Given the description of an element on the screen output the (x, y) to click on. 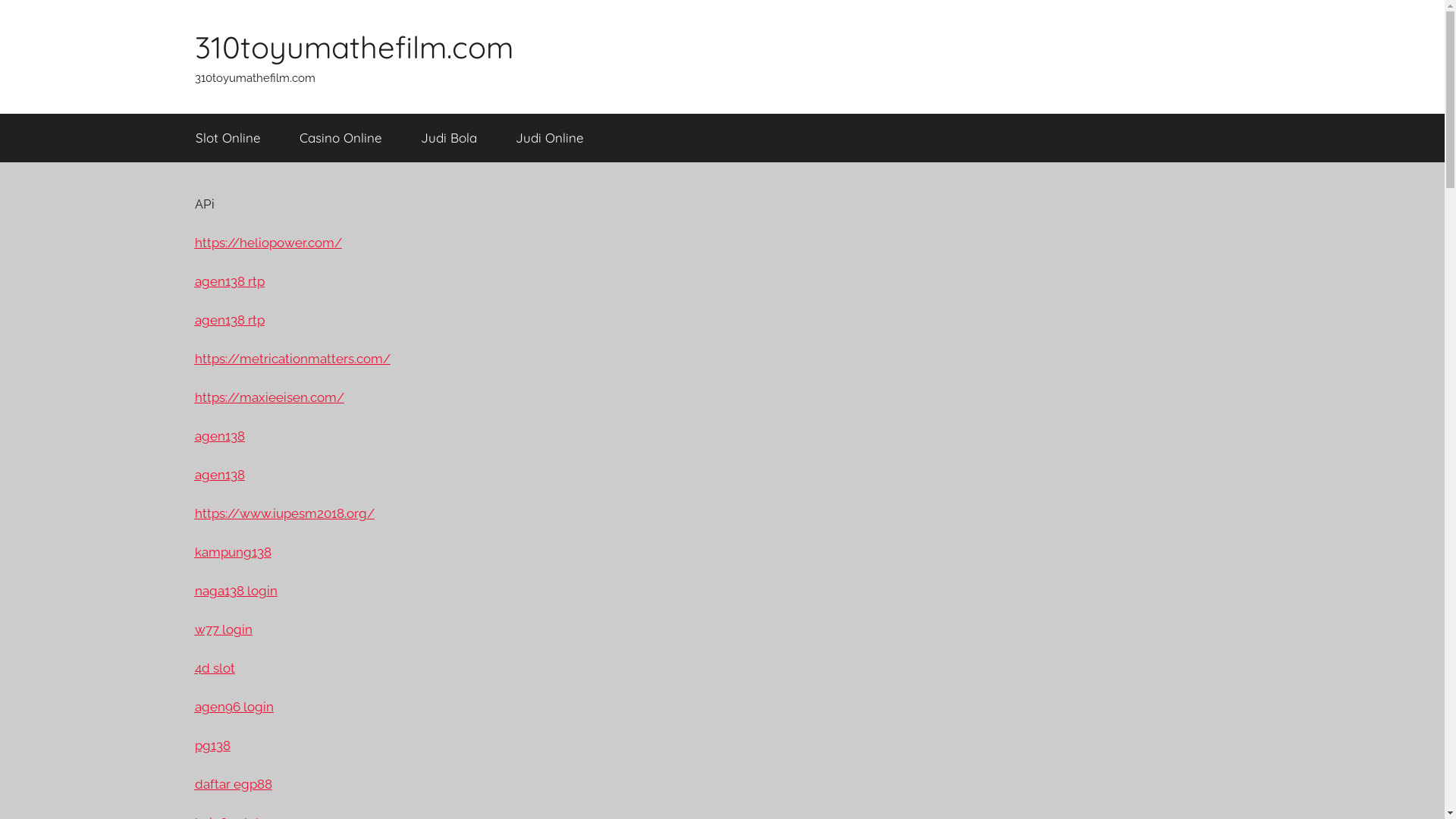
Casino Online Element type: text (340, 137)
Judi Bola Element type: text (448, 137)
4d slot Element type: text (214, 667)
https://heliopower.com/ Element type: text (267, 242)
Judi Online Element type: text (548, 137)
310toyumathefilm.com Element type: text (353, 46)
w77 login Element type: text (222, 629)
agen138 Element type: text (219, 474)
kampung138 Element type: text (232, 551)
daftar egp88 Element type: text (232, 783)
agen96 login Element type: text (233, 706)
naga138 login Element type: text (235, 590)
https://maxieeisen.com/ Element type: text (268, 396)
https://metricationmatters.com/ Element type: text (291, 358)
https://www.iupesm2018.org/ Element type: text (283, 512)
agen138 Element type: text (219, 435)
pg138 Element type: text (211, 745)
Slot Online Element type: text (227, 137)
agen138 rtp Element type: text (228, 280)
agen138 rtp Element type: text (228, 319)
